Given the description of an element on the screen output the (x, y) to click on. 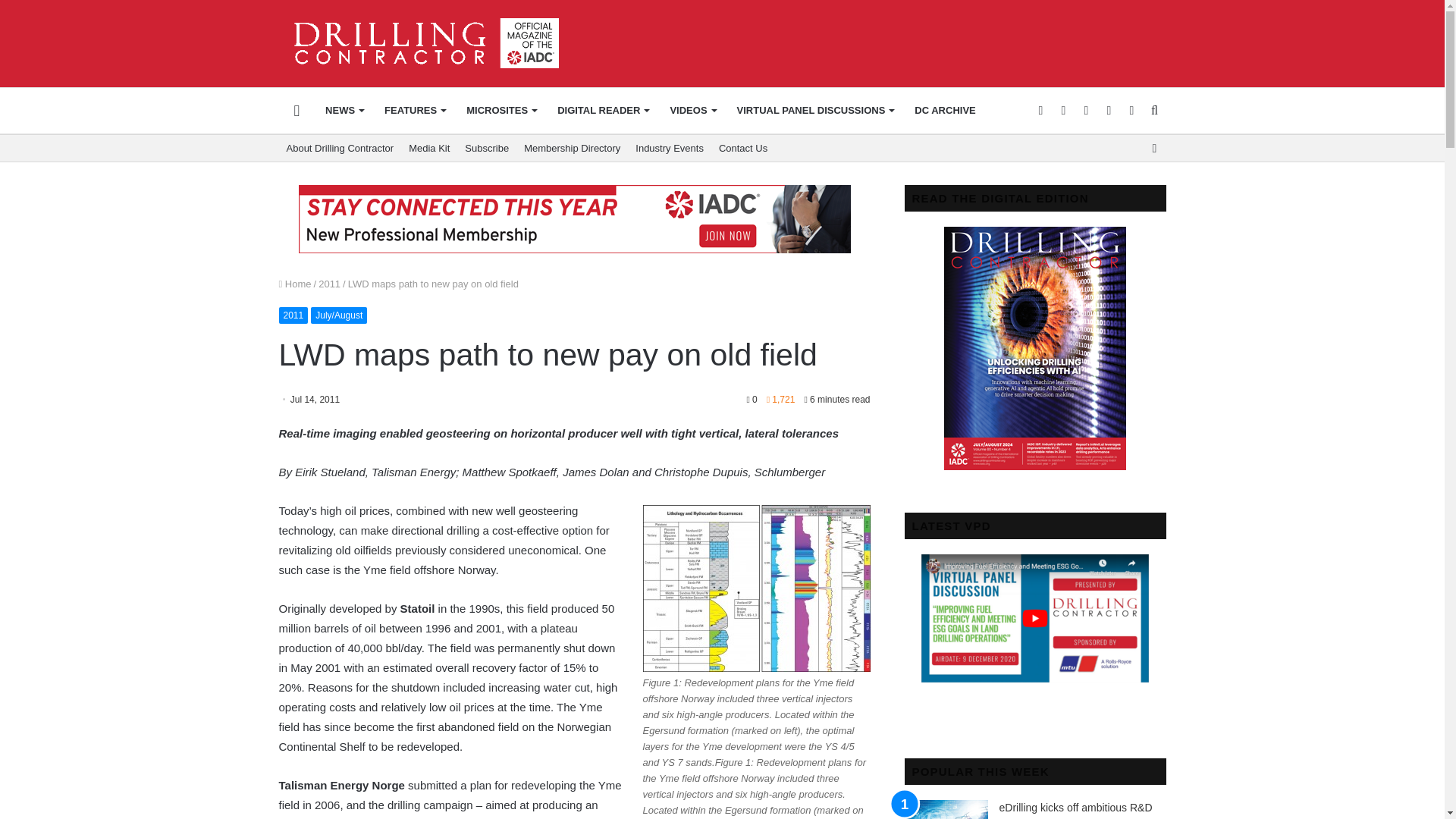
Recent Drilling News (1034, 466)
VIDEOS (692, 110)
FEATURES (414, 110)
Drilling Contractor (419, 42)
NEWS (344, 110)
DIGITAL READER (603, 110)
Contact Us (742, 148)
DC ARCHIVE (944, 110)
VIRTUAL PANEL DISCUSSIONS (815, 110)
Media Kit (429, 148)
About Drilling Contractor (340, 148)
Home (295, 283)
2011 (329, 283)
Industry Events (669, 148)
Subscribe (486, 148)
